Given the description of an element on the screen output the (x, y) to click on. 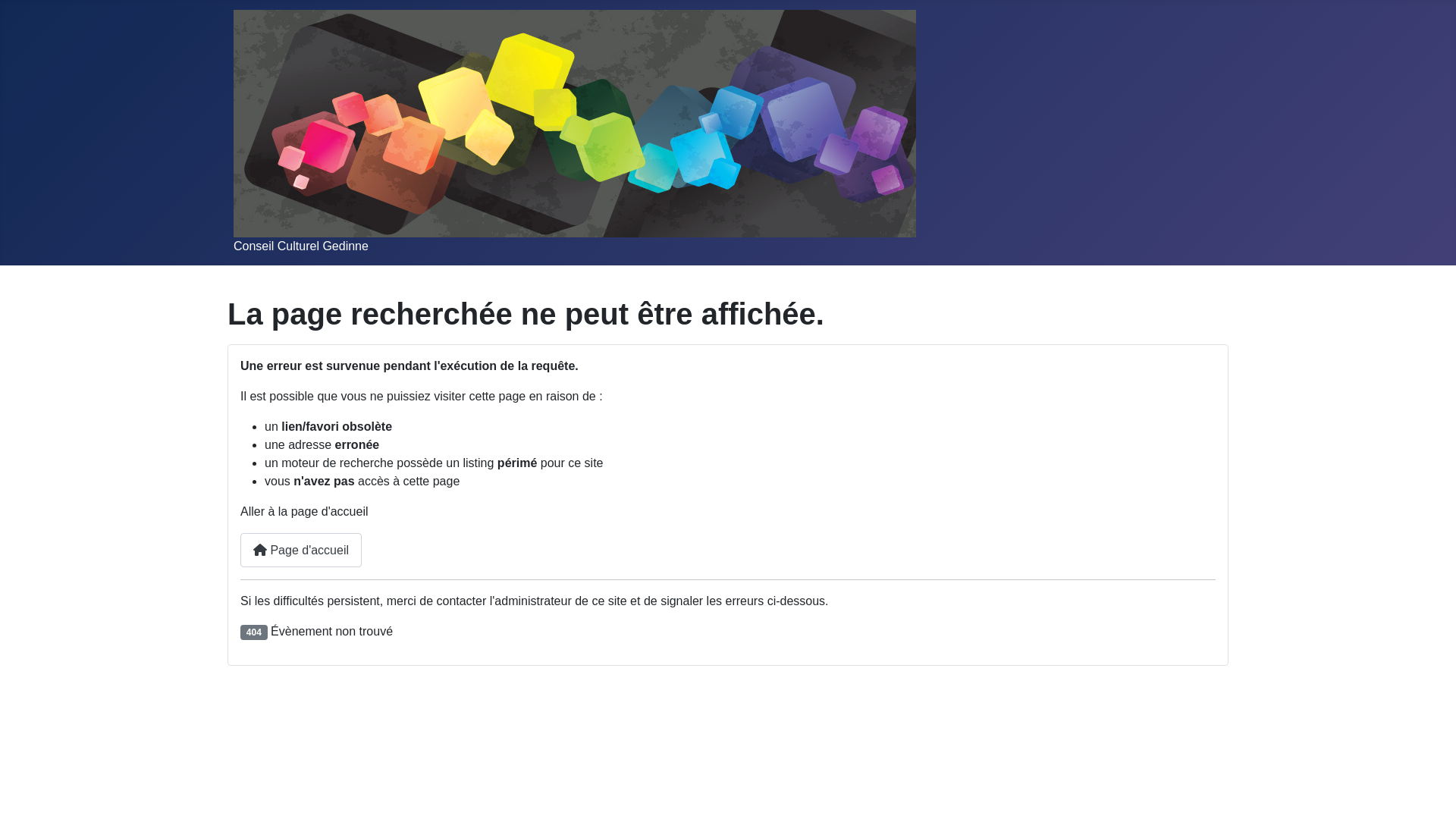
Page d'accueil Element type: text (300, 550)
